Given the description of an element on the screen output the (x, y) to click on. 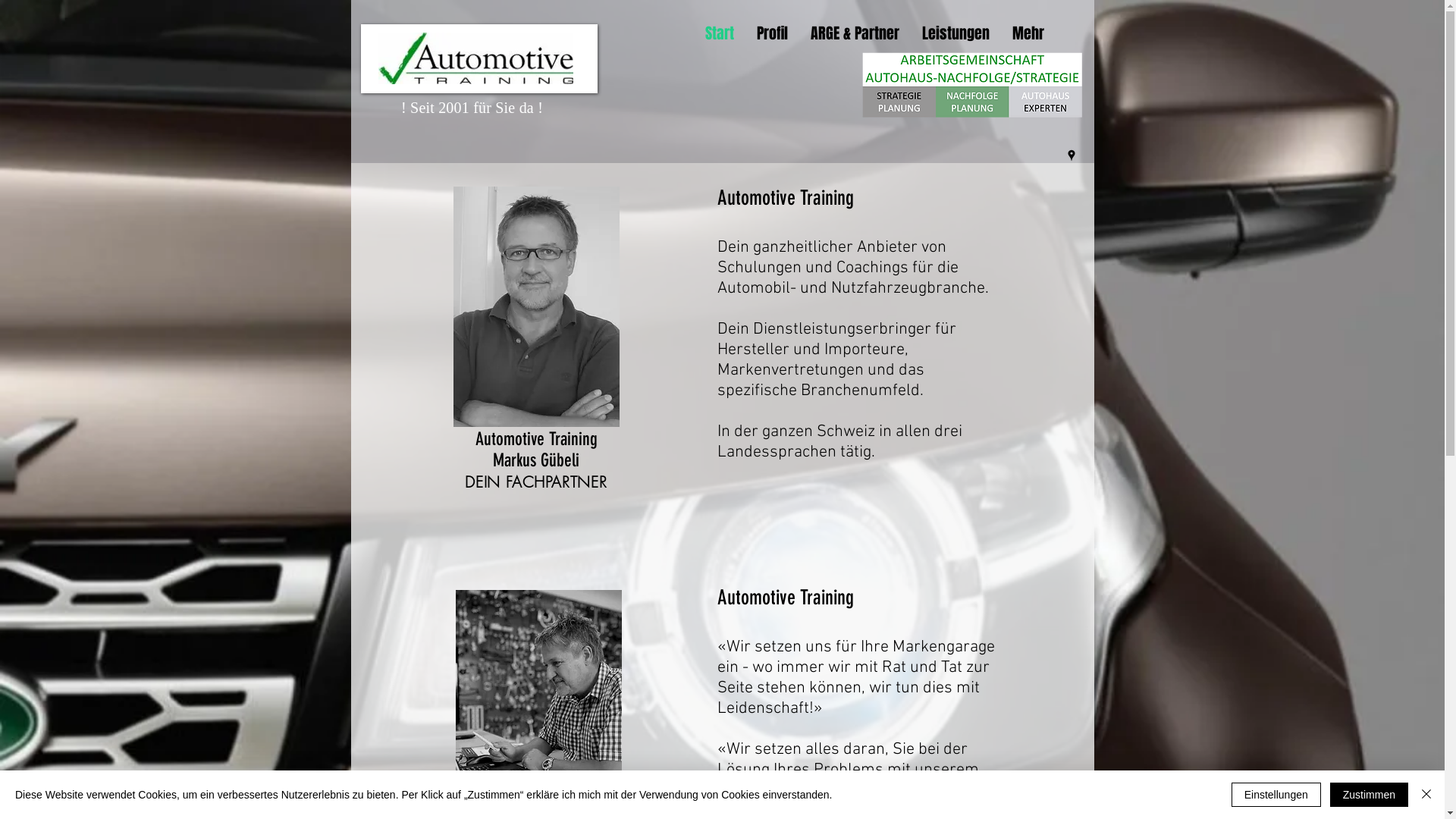
ARGE & Partner Element type: text (854, 32)
Start Element type: text (718, 32)
Zustimmen Element type: text (1369, 794)
Einstellungen Element type: text (1276, 794)
Profil Element type: text (771, 32)
Leistungen Element type: text (955, 32)
